Given the description of an element on the screen output the (x, y) to click on. 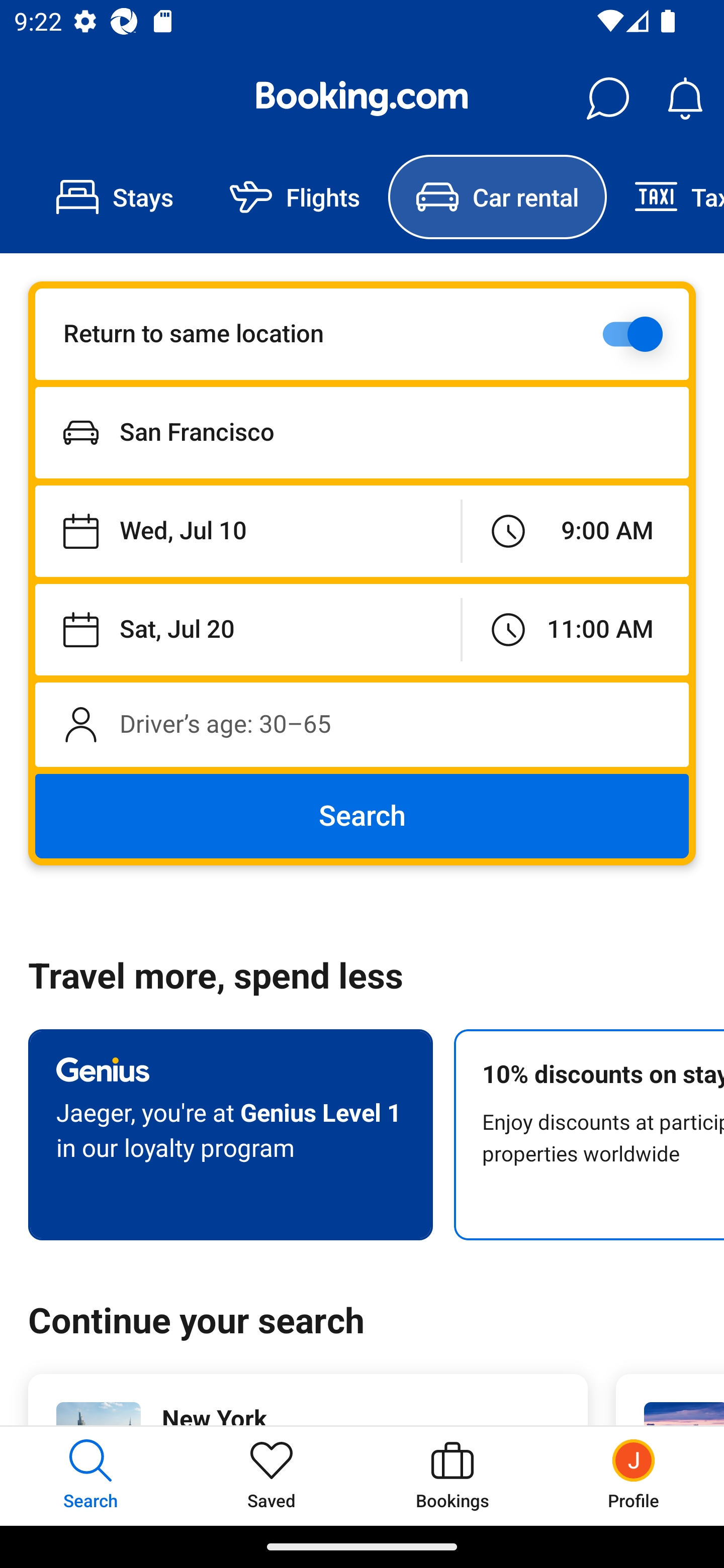
Messages (607, 98)
Notifications (685, 98)
Stays (114, 197)
Flights (294, 197)
Car rental (497, 197)
Taxi (665, 197)
Pick-up location: Text(name=San Francisco) (361, 432)
Pick-up date: 2024-07-10 (247, 531)
Pick-up time: 09:00:00.000 (575, 531)
Drop-off date: 2024-07-20 (247, 629)
Drop-off time: 11:00:00.000 (575, 629)
Enter the driver's age (361, 724)
Search (361, 815)
Saved (271, 1475)
Bookings (452, 1475)
Profile (633, 1475)
